Given the description of an element on the screen output the (x, y) to click on. 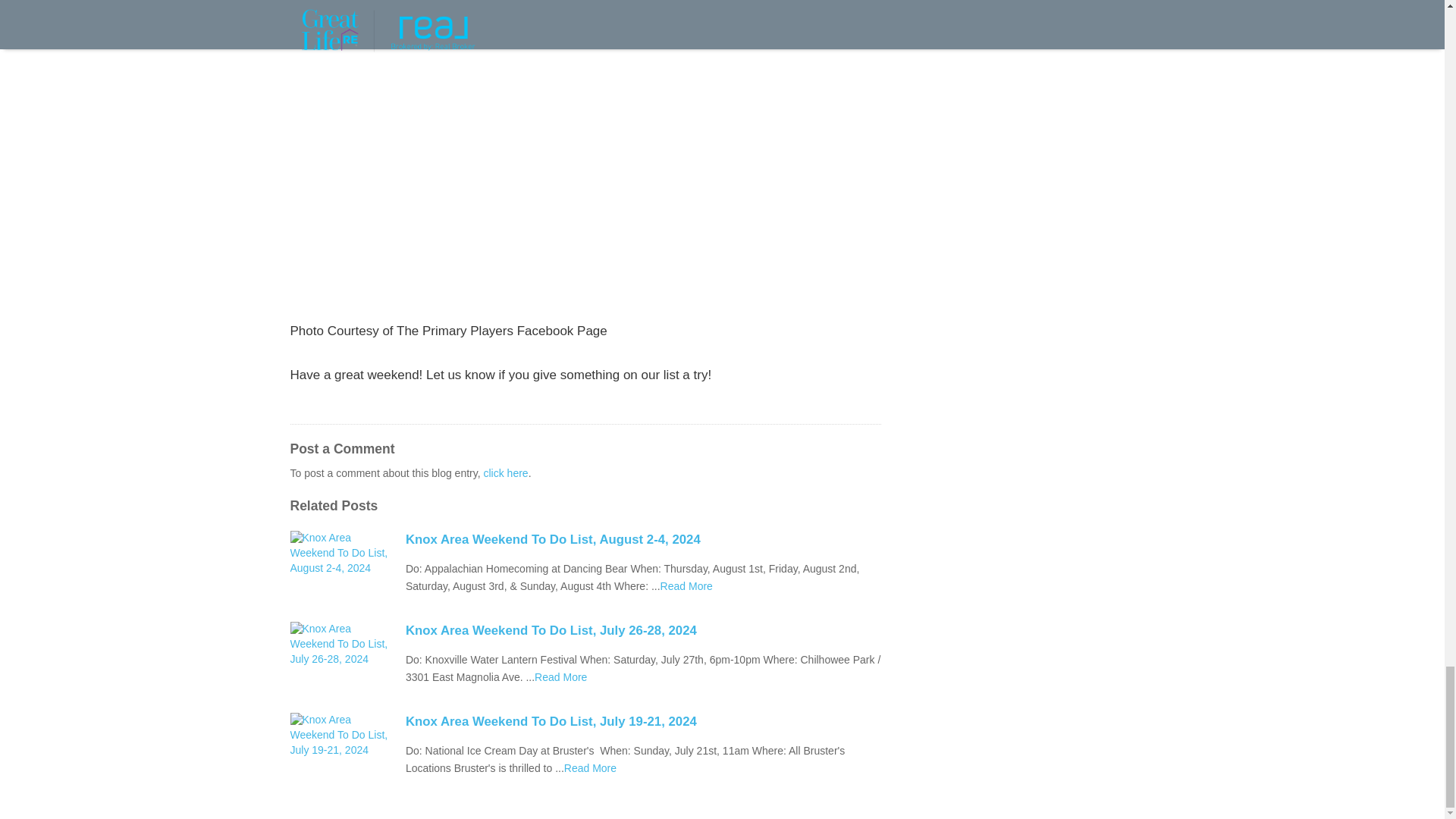
 Knox Area Weekend To Do List, August 2-4, 2024 (643, 539)
Great Life RE Weekend To Do List, December 21-23 (687, 585)
Great Life RE Weekend To Do List, December 21-23 (589, 767)
Great Life RE Weekend To Do List, December 21-23 (560, 676)
 Knox Area Weekend To Do List, July 19-21, 2024 (643, 721)
 Knox Area Weekend To Do List, July 26-28, 2024 (643, 630)
